Given the description of an element on the screen output the (x, y) to click on. 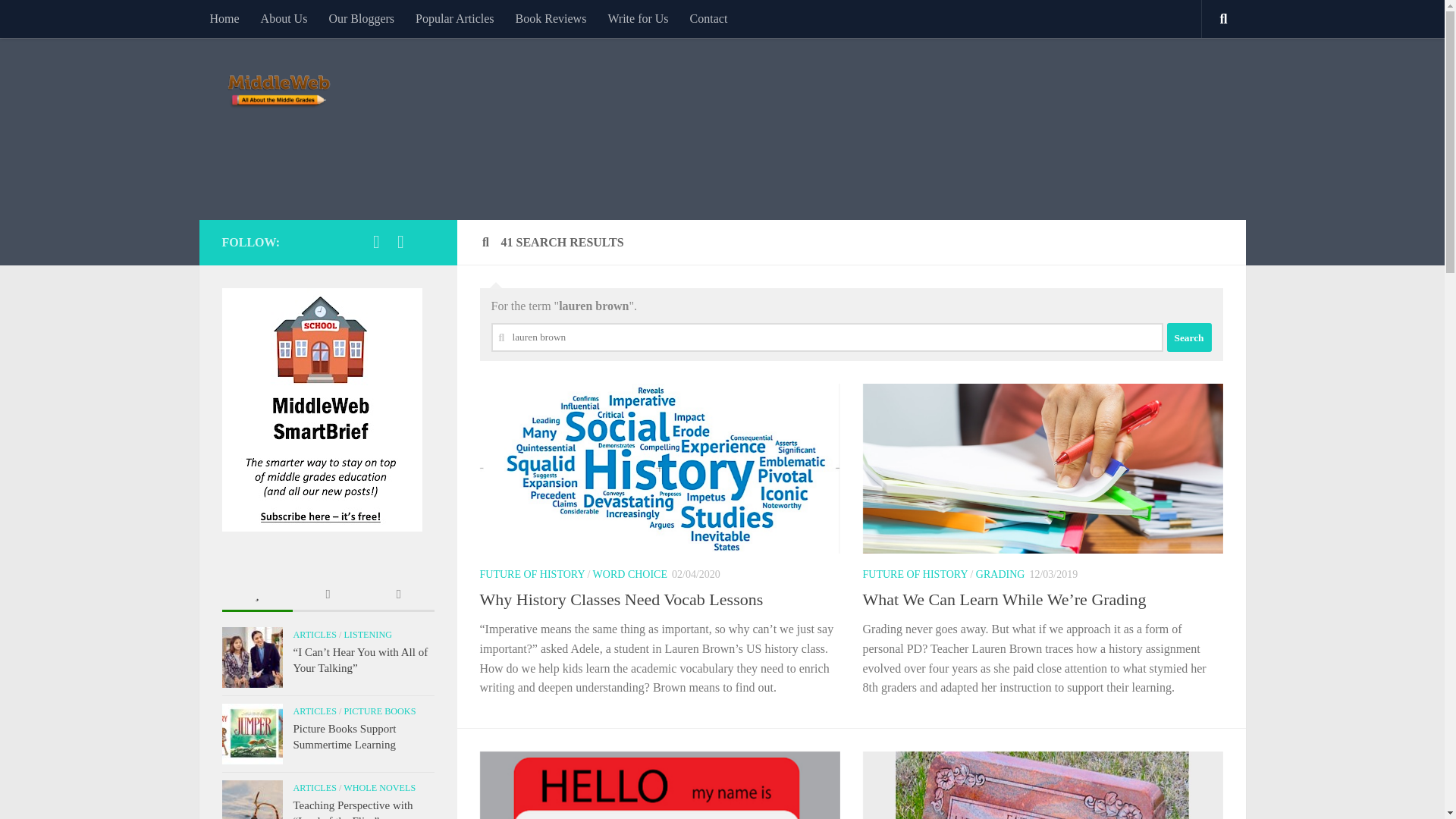
Home (223, 18)
Search (1188, 337)
Search (1188, 337)
FUTURE OF HISTORY (915, 573)
Skip to content (59, 20)
Contact (708, 18)
lauren brown (827, 337)
Popular Articles (454, 18)
Why History Classes Need Vocab Lessons (620, 599)
lauren brown (827, 337)
GRADING (1000, 573)
Search (1188, 337)
Book Reviews (550, 18)
WORD CHOICE (629, 573)
Write for Us (637, 18)
